Given the description of an element on the screen output the (x, y) to click on. 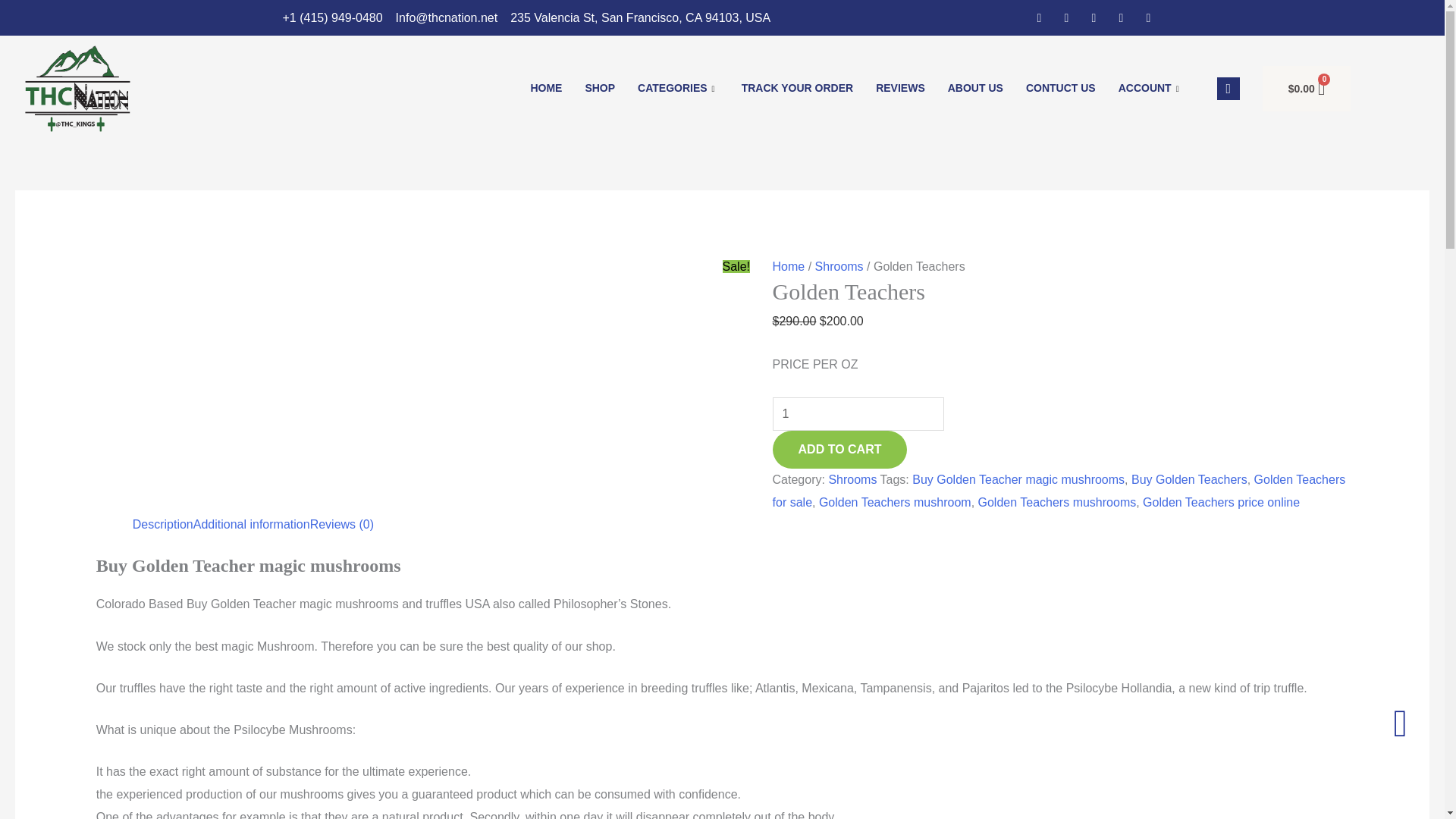
Home (789, 266)
HOME (545, 88)
REVIEWS (900, 88)
TRACK YOUR ORDER (797, 88)
CONTUCT US (1060, 88)
1 (858, 413)
SHOP (599, 88)
ACCOUNT (1149, 88)
CATEGORIES (678, 88)
ABOUT US (975, 88)
